Given the description of an element on the screen output the (x, y) to click on. 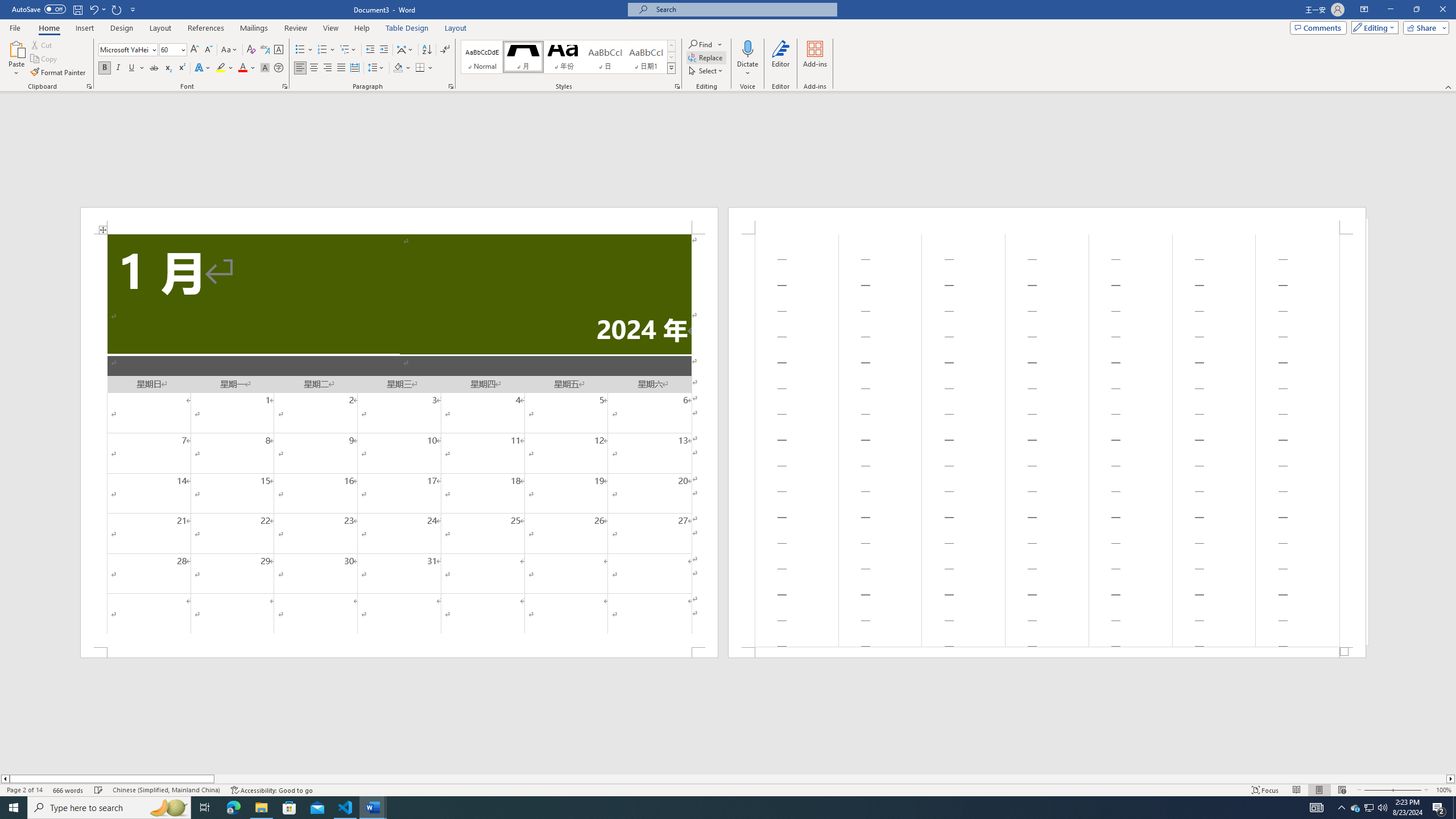
Column right (1450, 778)
Decrease Indent (370, 49)
Text Highlight Color Yellow (220, 67)
Change Case (229, 49)
Font... (285, 85)
Page right (829, 778)
Paste (16, 58)
Line and Paragraph Spacing (376, 67)
Home (48, 28)
Styles (670, 67)
Paragraph... (450, 85)
Focus  (1265, 790)
View (330, 28)
Shading RGB(0, 0, 0) (397, 67)
